Given the description of an element on the screen output the (x, y) to click on. 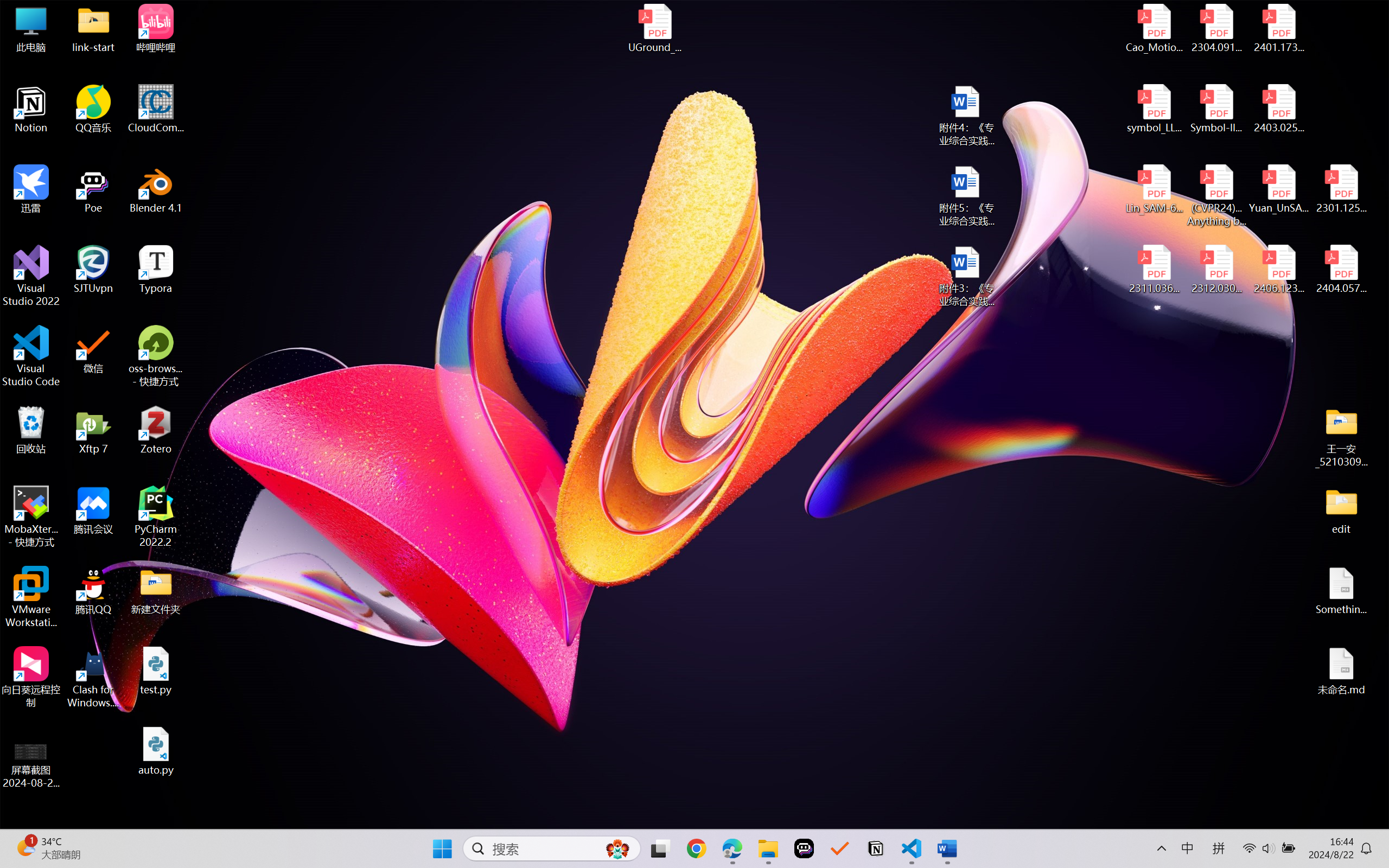
Typora (156, 269)
2304.09121v3.pdf (1216, 28)
PyCharm 2022.2 (156, 516)
test.py (156, 670)
CloudCompare (156, 109)
2301.12597v3.pdf (1340, 189)
2312.03032v2.pdf (1216, 269)
